Given the description of an element on the screen output the (x, y) to click on. 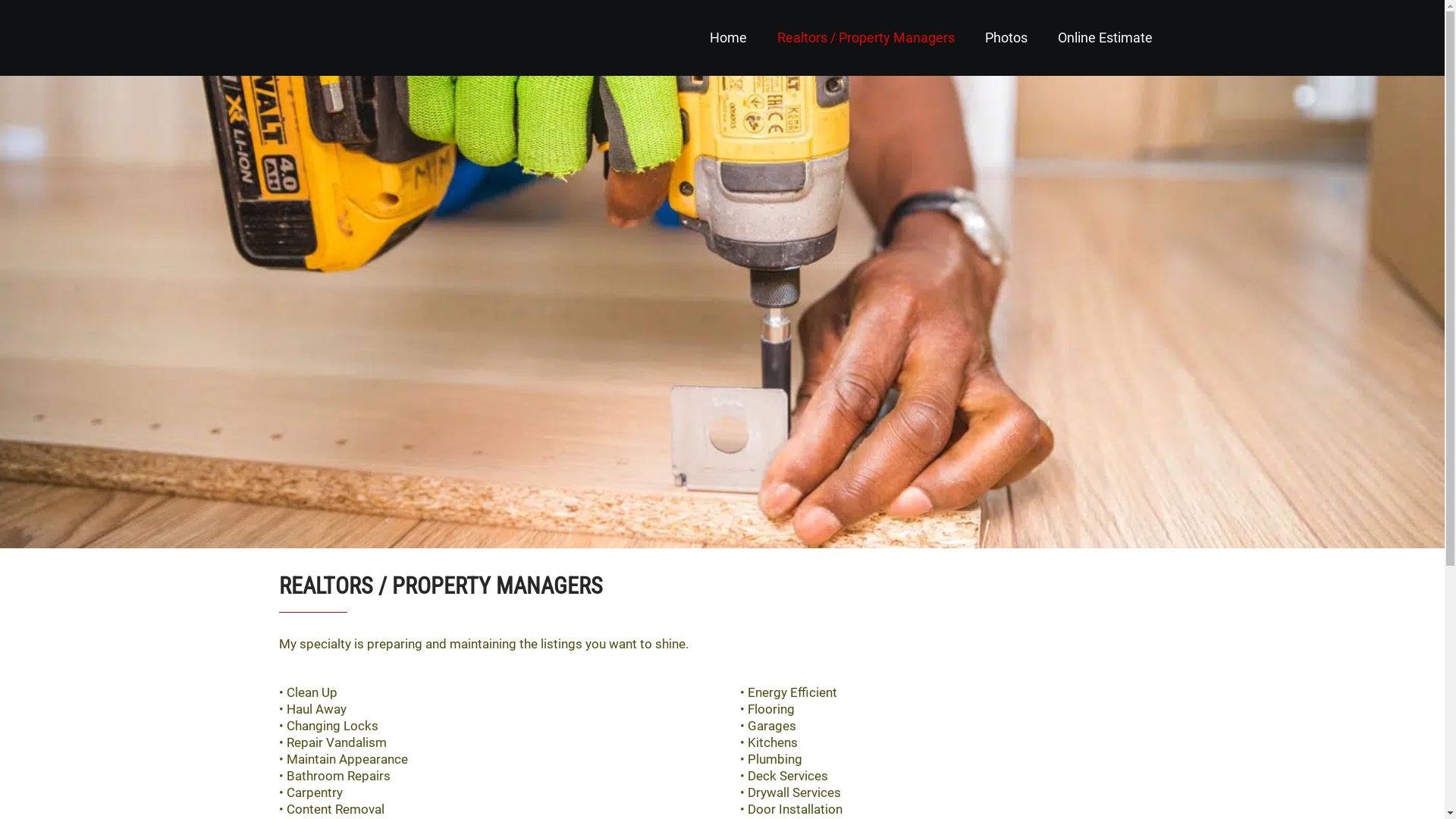
Realtors / Property Managers Element type: text (864, 37)
Photos Element type: text (1005, 37)
Online Estimate Element type: text (1104, 37)
Home Element type: text (728, 37)
